Given the description of an element on the screen output the (x, y) to click on. 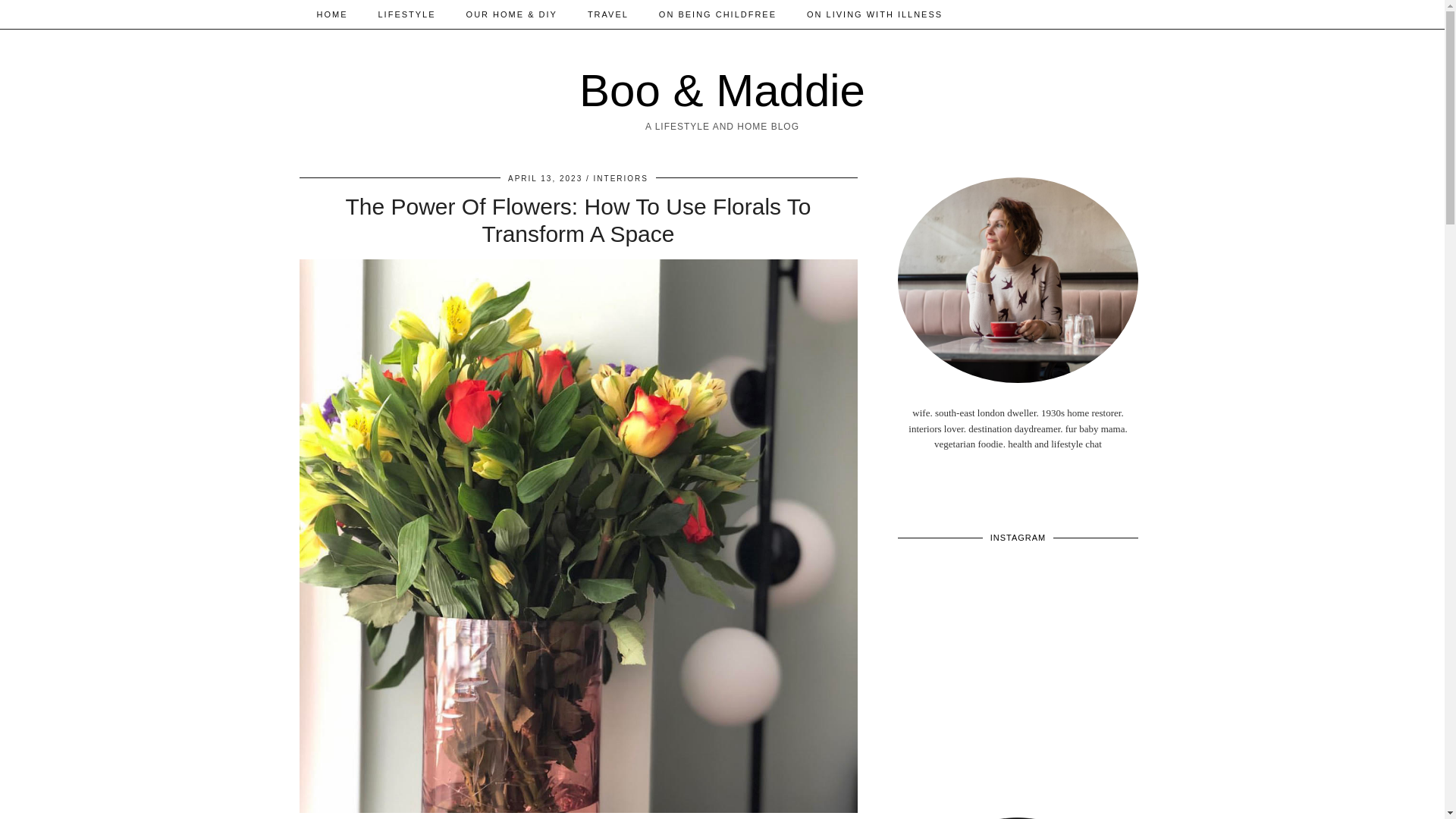
HOME (331, 14)
TRAVEL (607, 14)
ON BEING CHILDFREE (717, 14)
ON LIVING WITH ILLNESS (875, 14)
LIFESTYLE (405, 14)
